Given the description of an element on the screen output the (x, y) to click on. 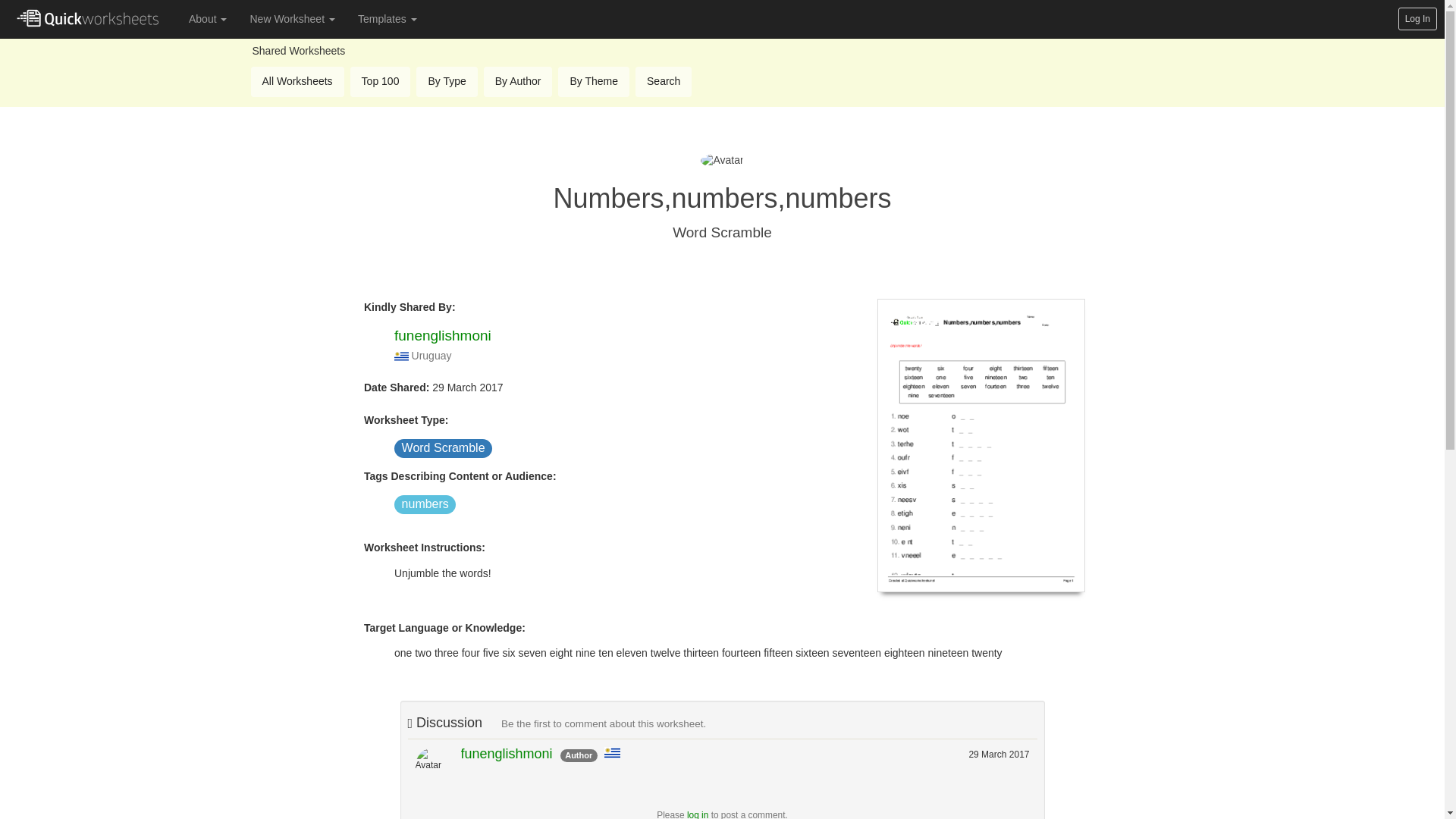
UY (401, 356)
New Worksheet (292, 18)
UY (612, 752)
About (207, 18)
